Given the description of an element on the screen output the (x, y) to click on. 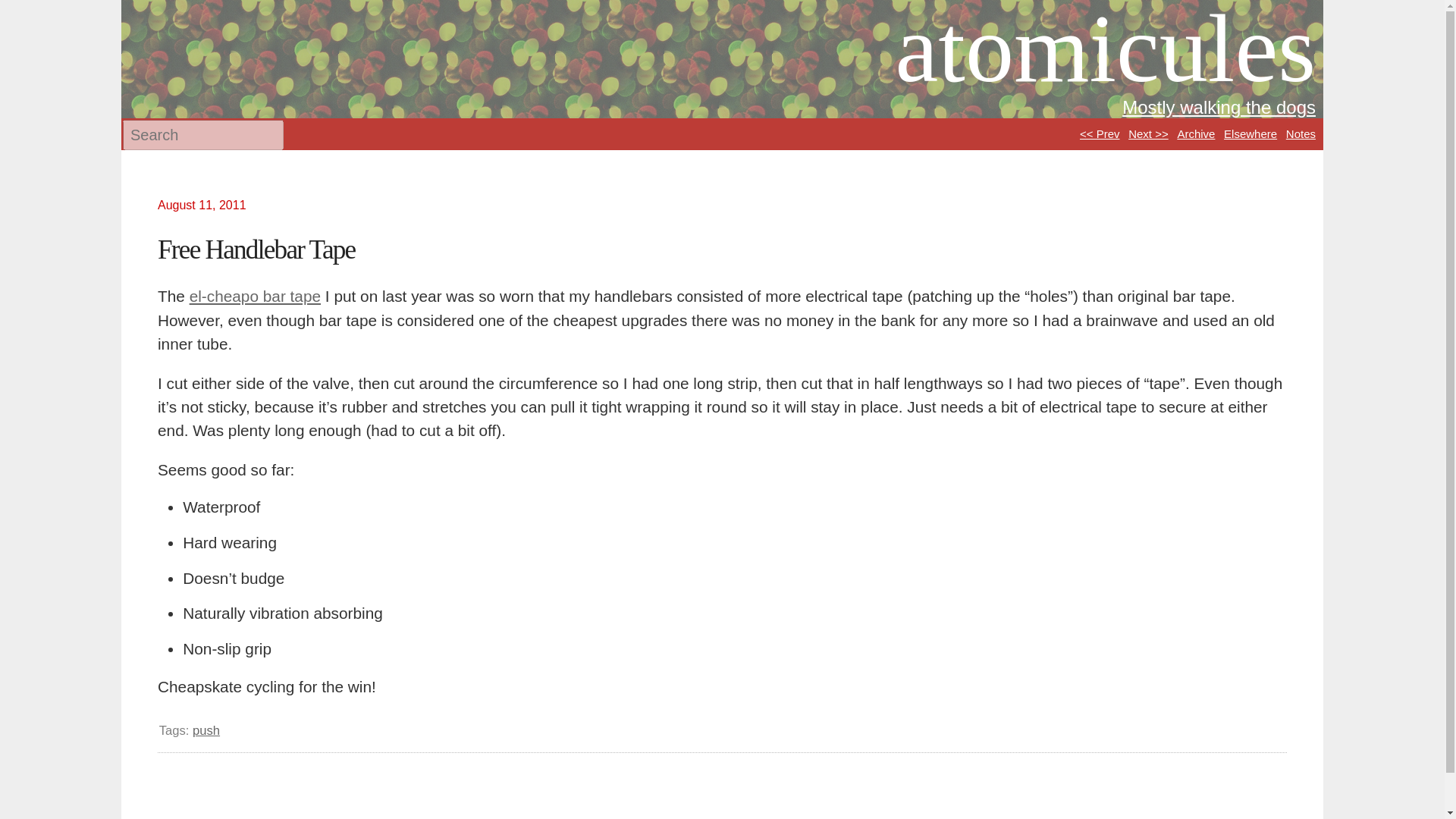
August 11, 2011 (208, 205)
push (205, 730)
el-cheapo bar tape (254, 295)
